Given the description of an element on the screen output the (x, y) to click on. 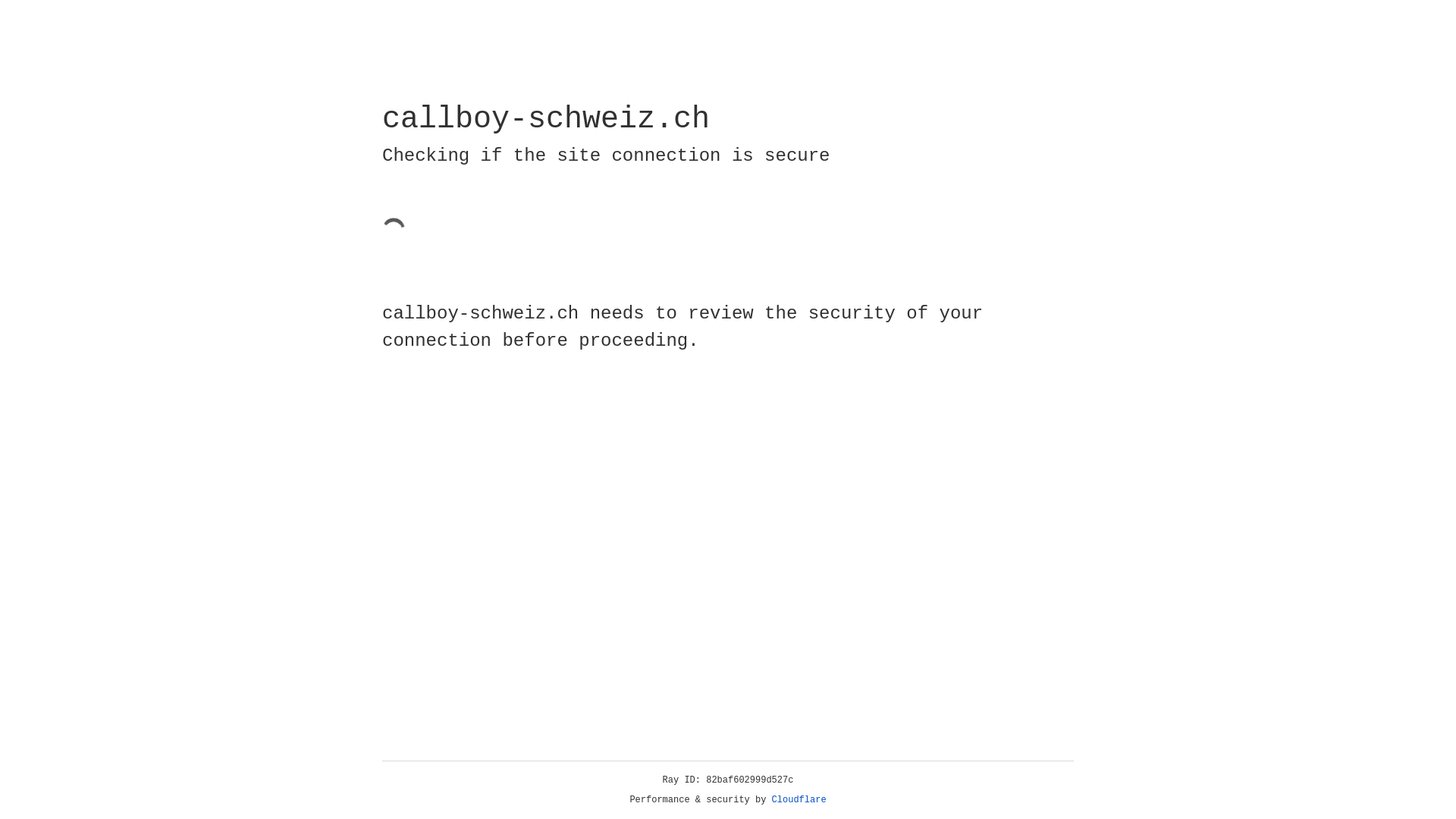
Cloudflare Element type: text (798, 799)
